Given the description of an element on the screen output the (x, y) to click on. 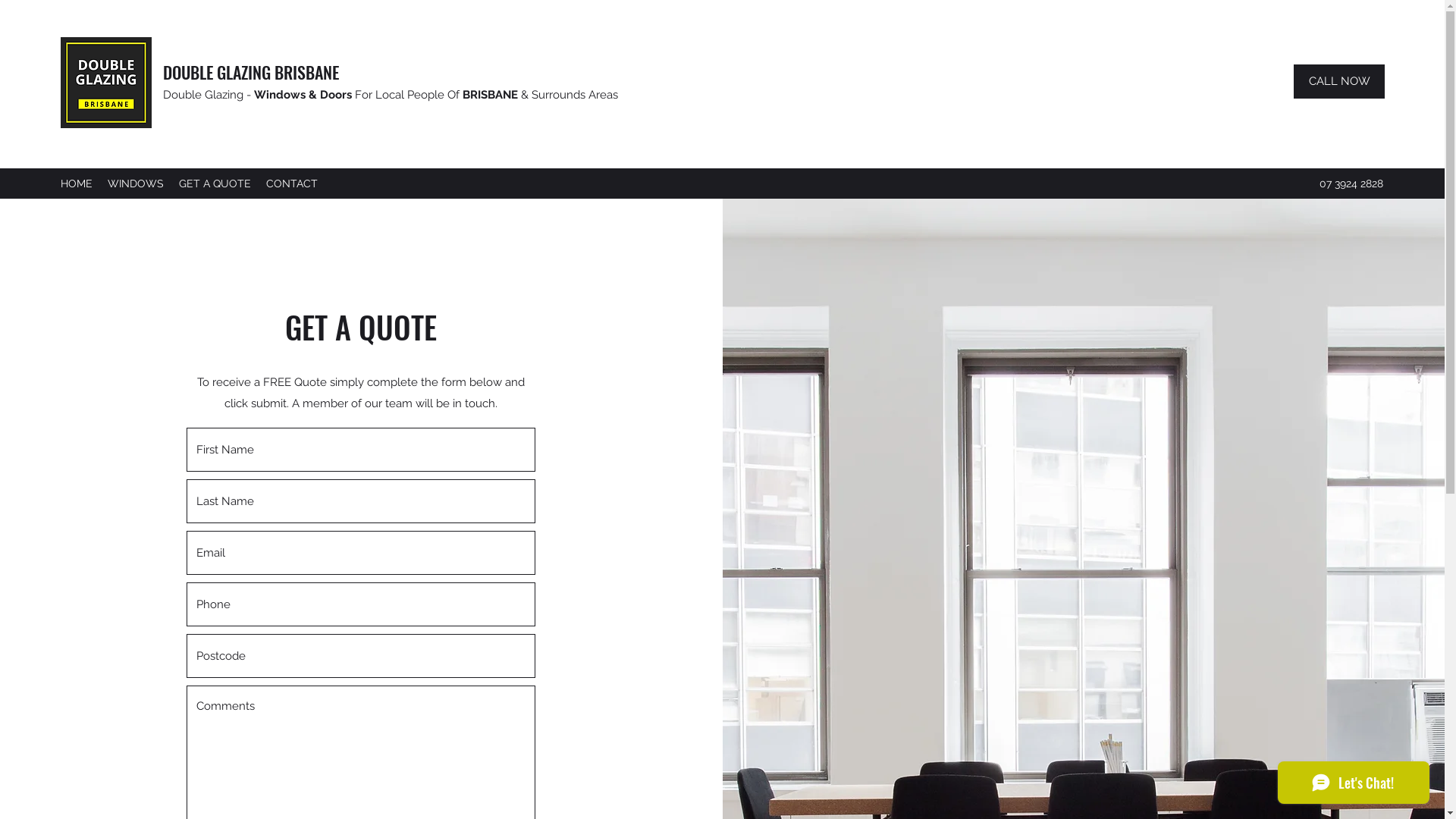
CONTACT Element type: text (291, 183)
WINDOWS Element type: text (135, 183)
HOME Element type: text (76, 183)
CALL NOW Element type: text (1338, 81)
GET A QUOTE Element type: text (214, 183)
